Given the description of an element on the screen output the (x, y) to click on. 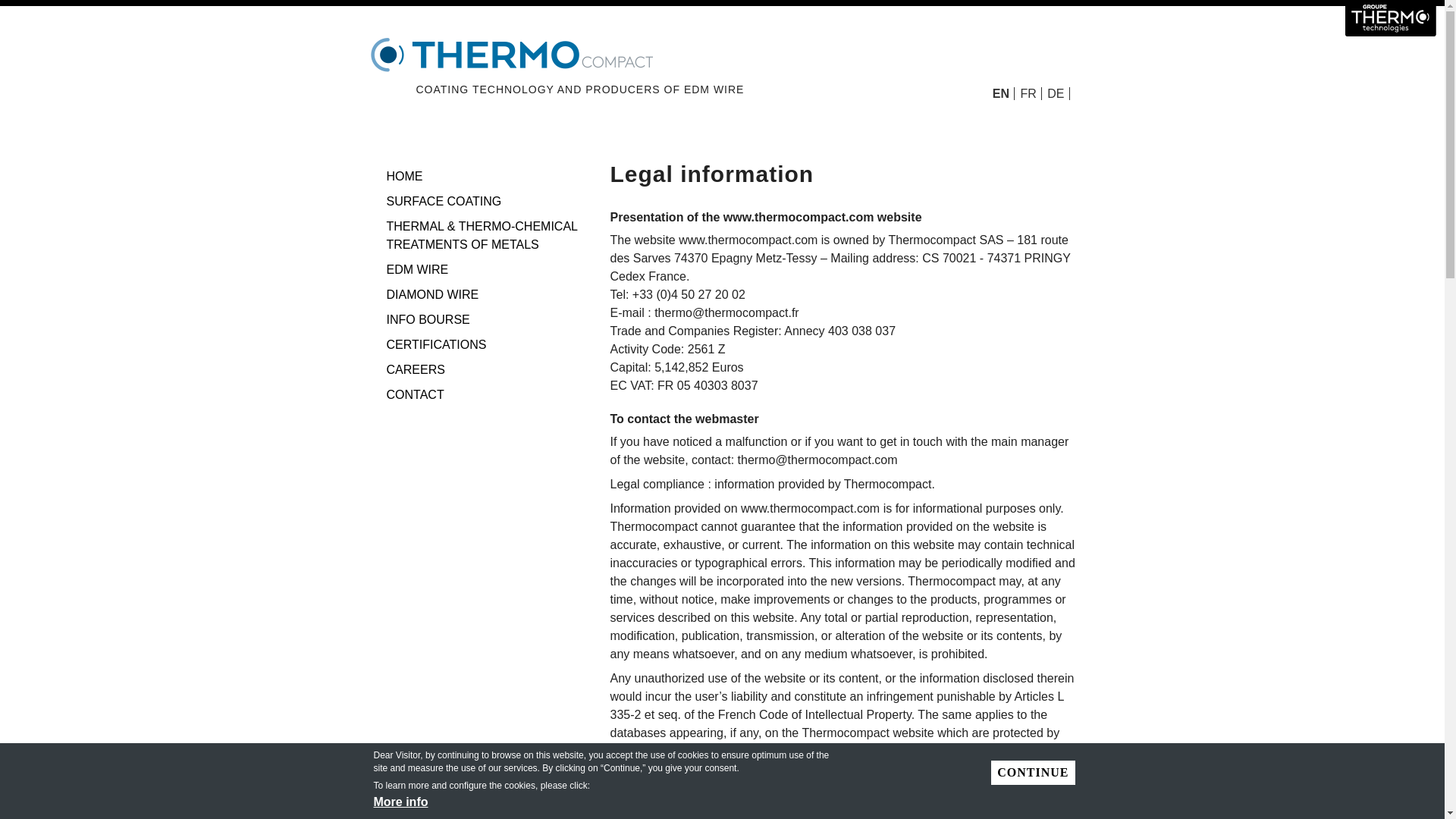
SURFACE COATING (444, 201)
HOME (405, 175)
DIAMOND WIRE (433, 294)
CAREERS (416, 369)
Rechtliche Hinweise (1057, 92)
CONTACT (415, 394)
Legal information (1003, 92)
EDM WIRE (417, 269)
Thermocompact Surface Coating and EDM wires (405, 175)
INFO BOURSE (428, 318)
FR (1030, 92)
CERTIFICATIONS (436, 344)
DE (1057, 92)
